Given the description of an element on the screen output the (x, y) to click on. 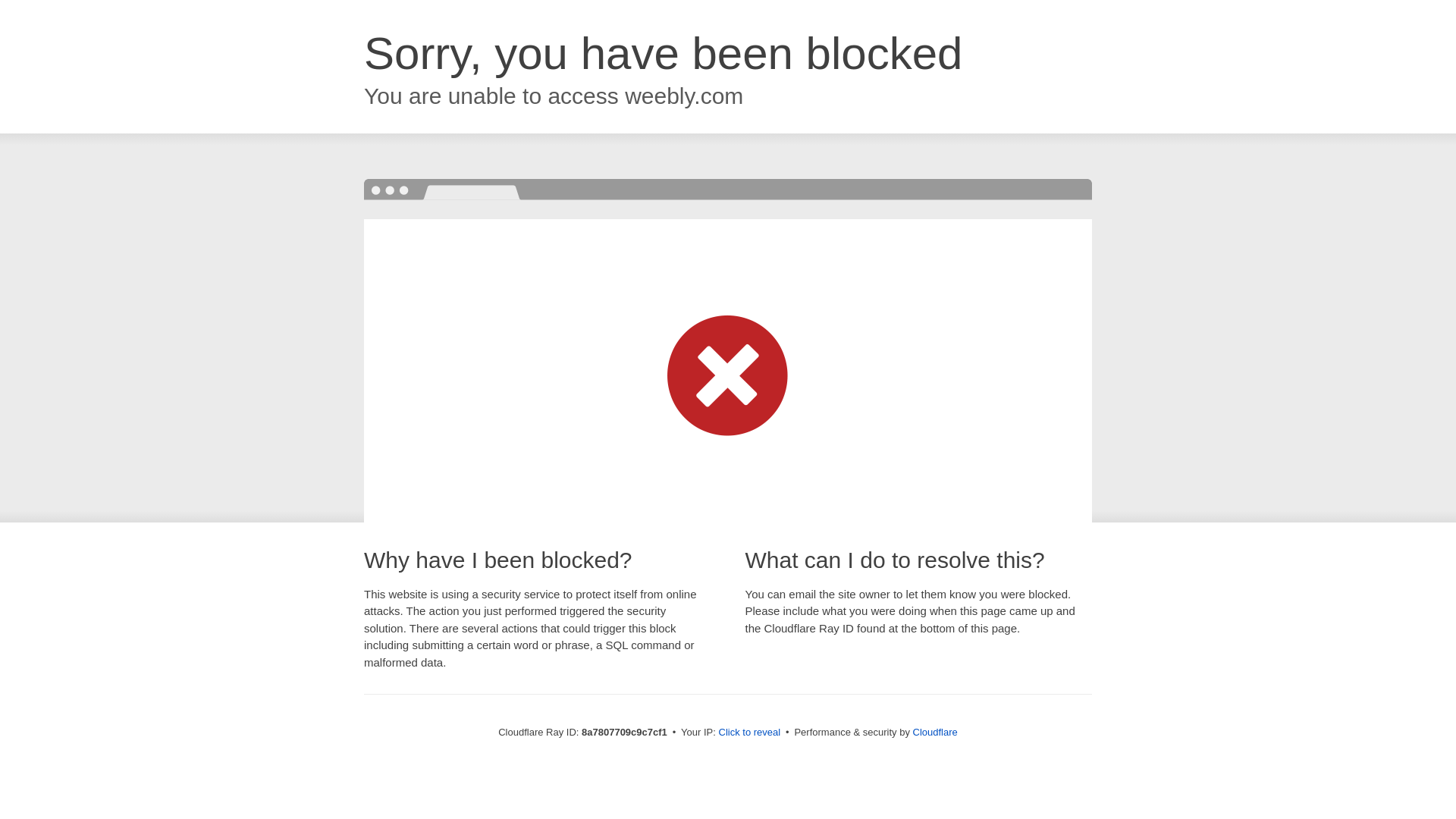
Cloudflare (935, 731)
Click to reveal (749, 732)
